Given the description of an element on the screen output the (x, y) to click on. 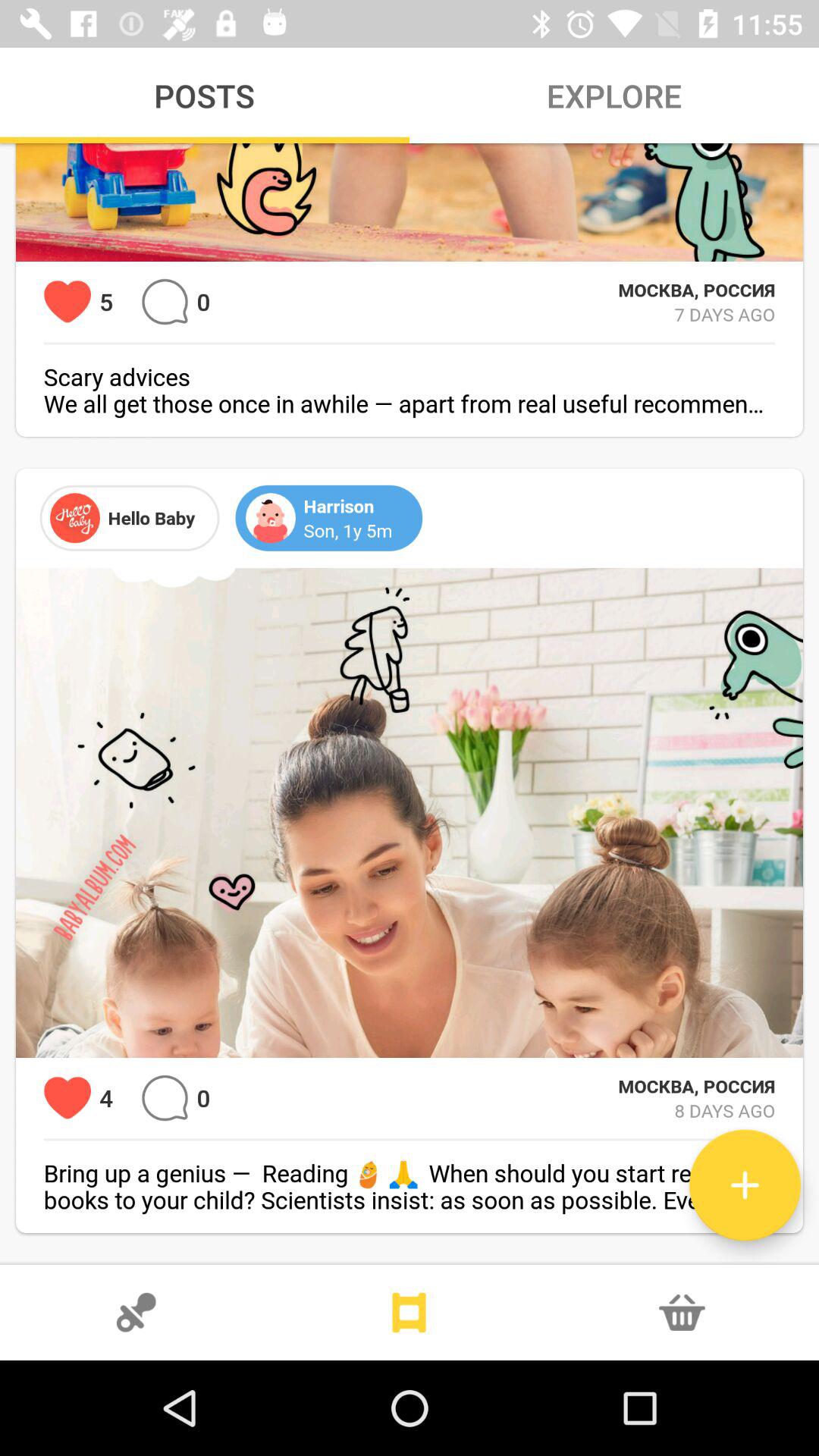
like the image (67, 1098)
